Given the description of an element on the screen output the (x, y) to click on. 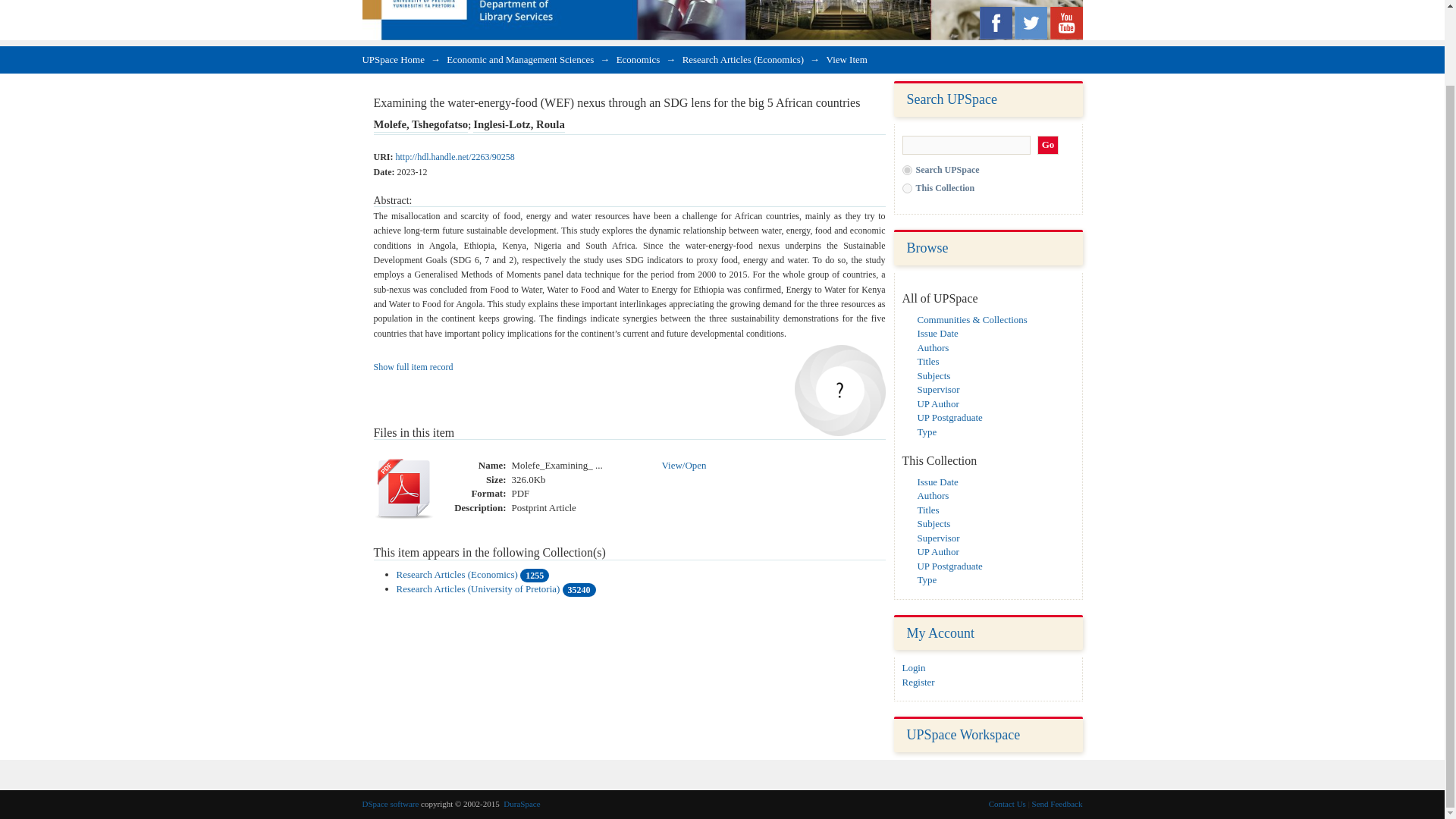
UP Author (938, 551)
Economic and Management Sciences (520, 59)
Show full item record (412, 366)
DSpace software (390, 803)
Issue Date (937, 333)
Subjects (933, 523)
Register (918, 681)
Login (914, 667)
UP Author (938, 403)
Economics (638, 59)
Issue Date (937, 481)
Go (1047, 144)
UP Postgraduate (949, 417)
Subjects (933, 374)
Postprint Article (543, 508)
